Given the description of an element on the screen output the (x, y) to click on. 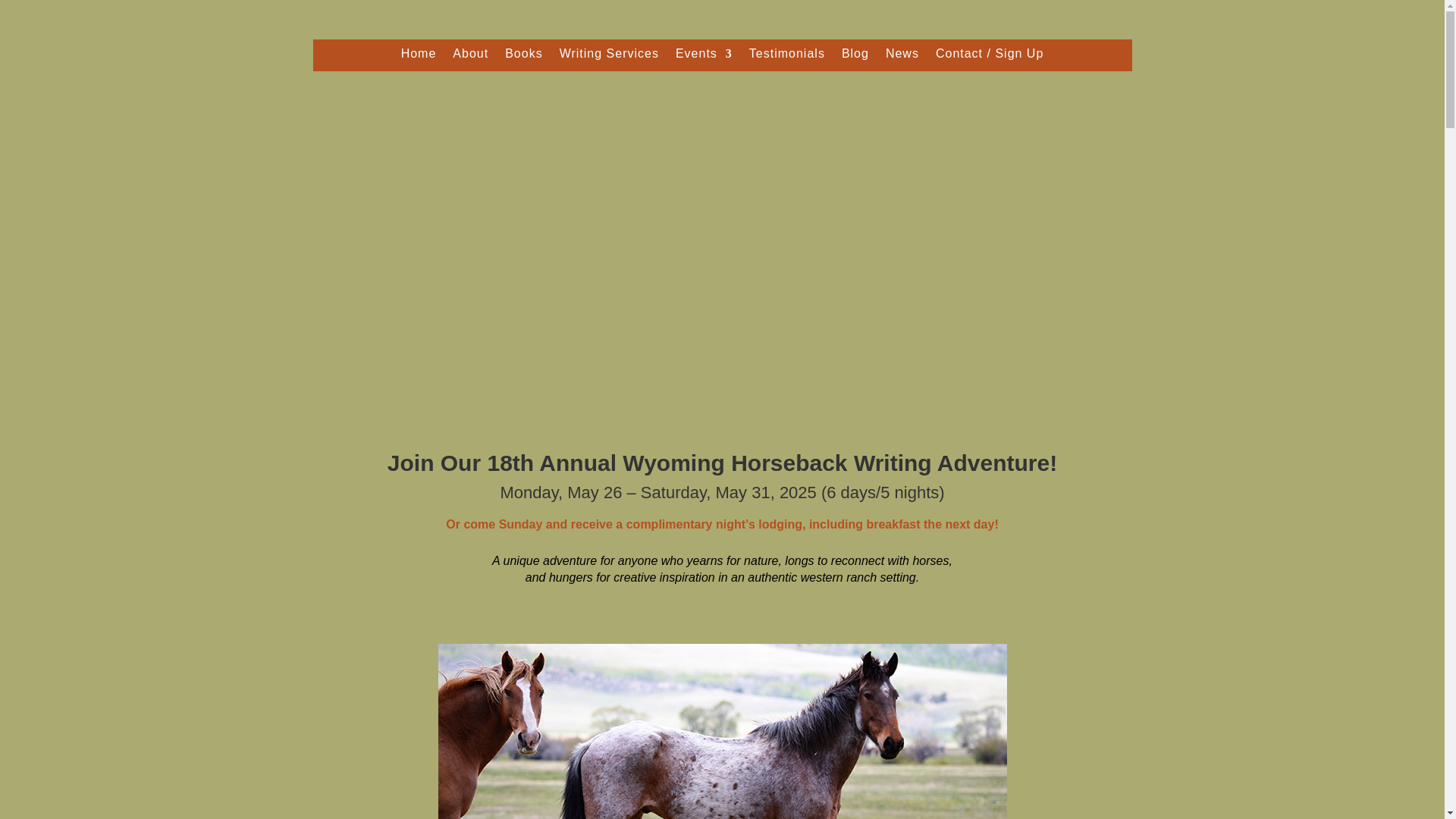
Testimonials (787, 56)
Books (523, 56)
Events (703, 56)
Blog (855, 56)
Home (418, 56)
About (469, 56)
News (901, 56)
Writing Services (609, 56)
